Given the description of an element on the screen output the (x, y) to click on. 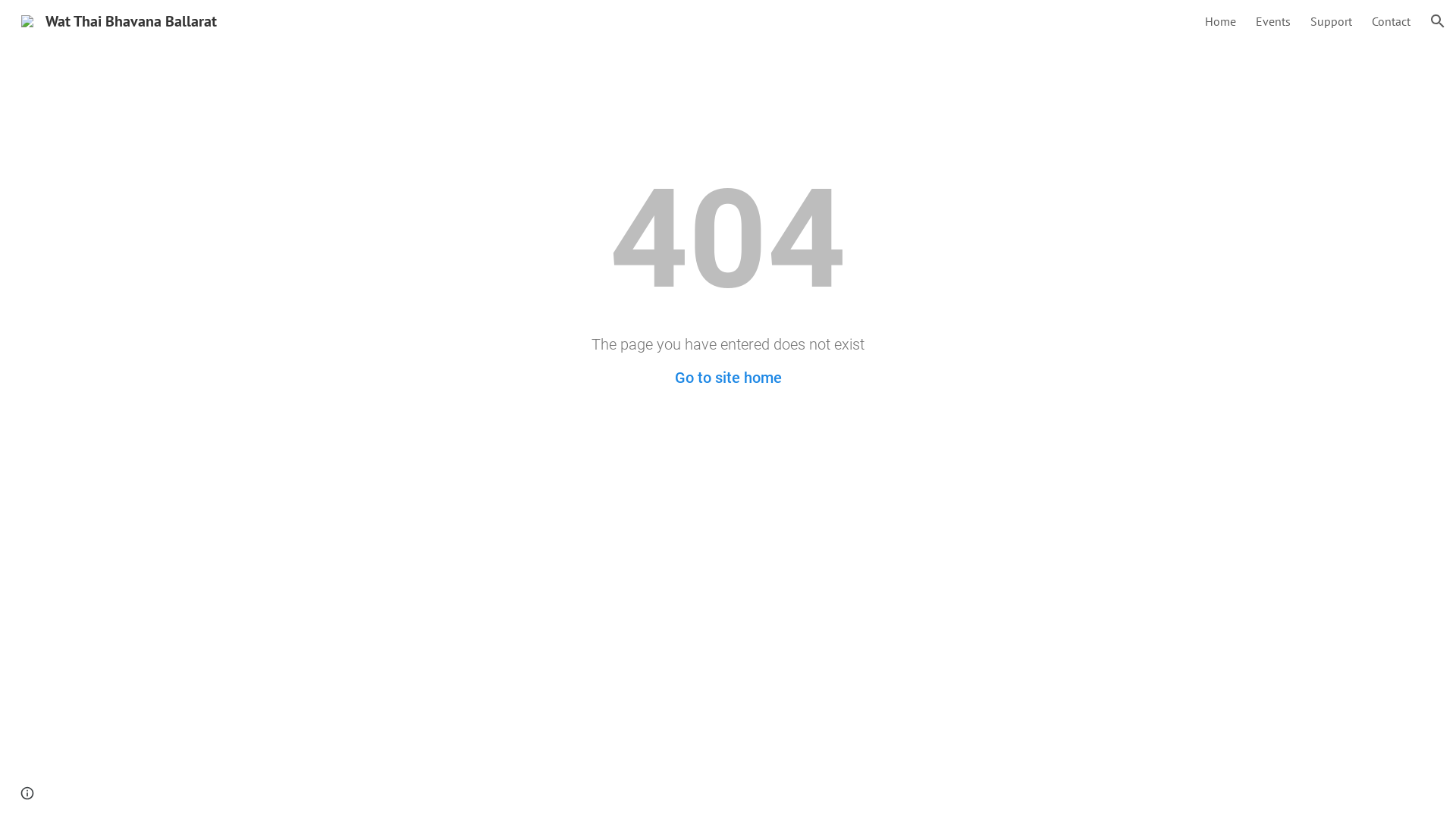
Go to site home Element type: text (727, 377)
Events Element type: text (1272, 20)
Wat Thai Bhavana Ballarat Element type: text (118, 19)
Home Element type: text (1220, 20)
Support Element type: text (1331, 20)
Contact Element type: text (1390, 20)
